Given the description of an element on the screen output the (x, y) to click on. 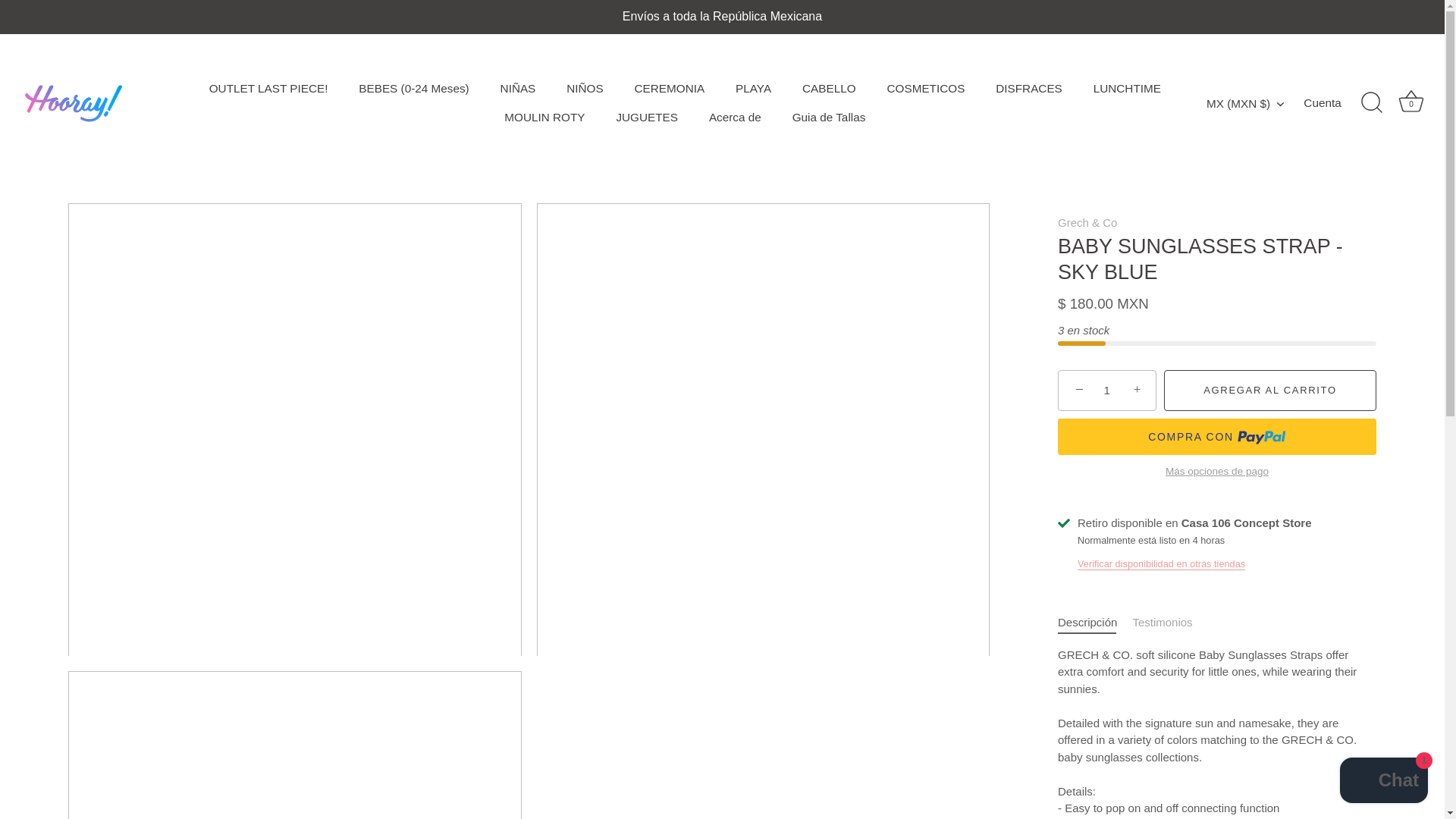
OUTLET LAST PIECE! (267, 89)
CEREMONIA (668, 89)
Basket (1410, 101)
Chat de la tienda online Shopify (1383, 781)
